Given the description of an element on the screen output the (x, y) to click on. 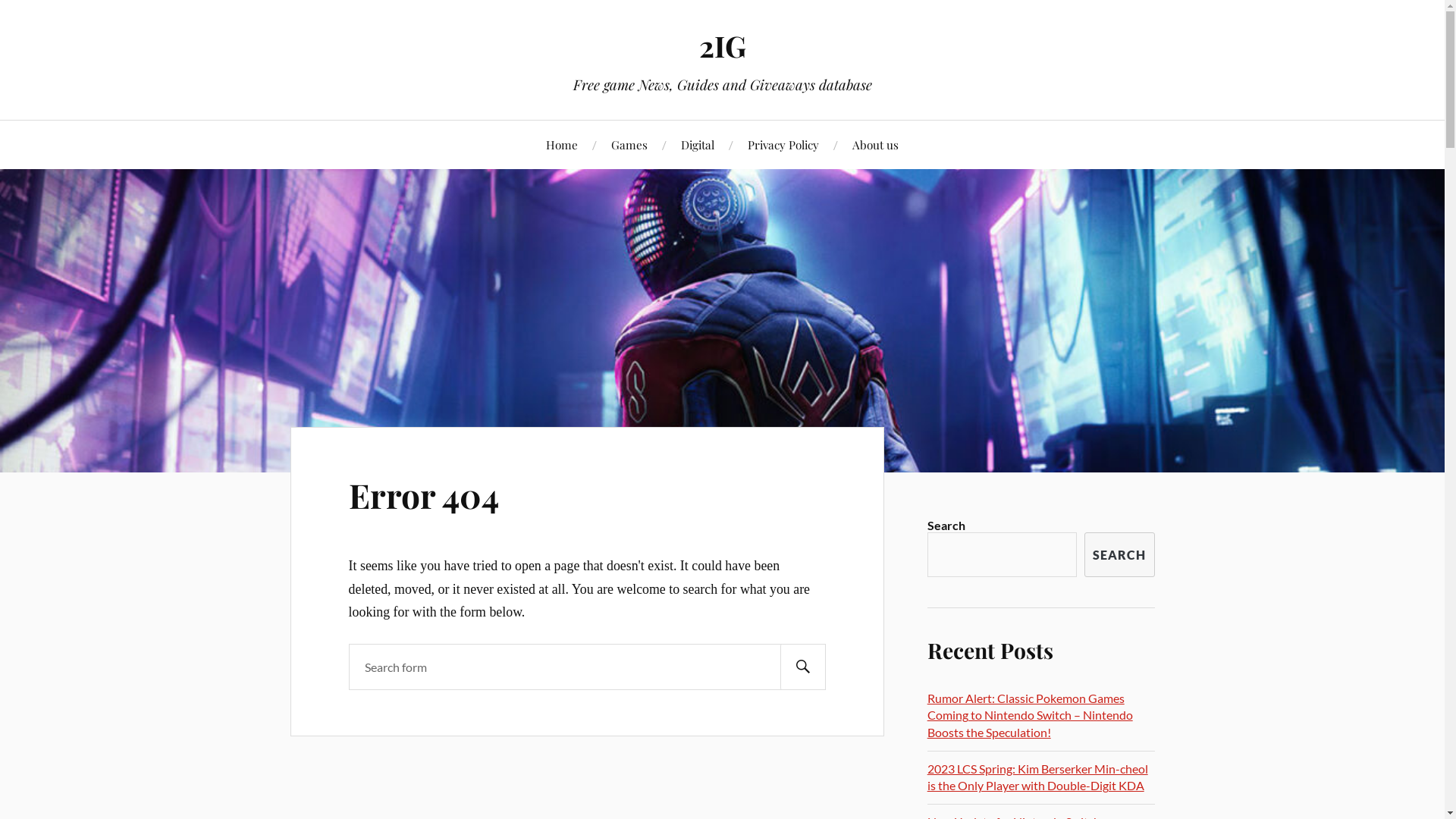
2IG Element type: text (722, 45)
Privacy Policy Element type: text (783, 144)
About us Element type: text (875, 144)
Home Element type: text (561, 144)
Digital Element type: text (697, 144)
SEARCH Element type: text (1119, 554)
Games Element type: text (629, 144)
